Given the description of an element on the screen output the (x, y) to click on. 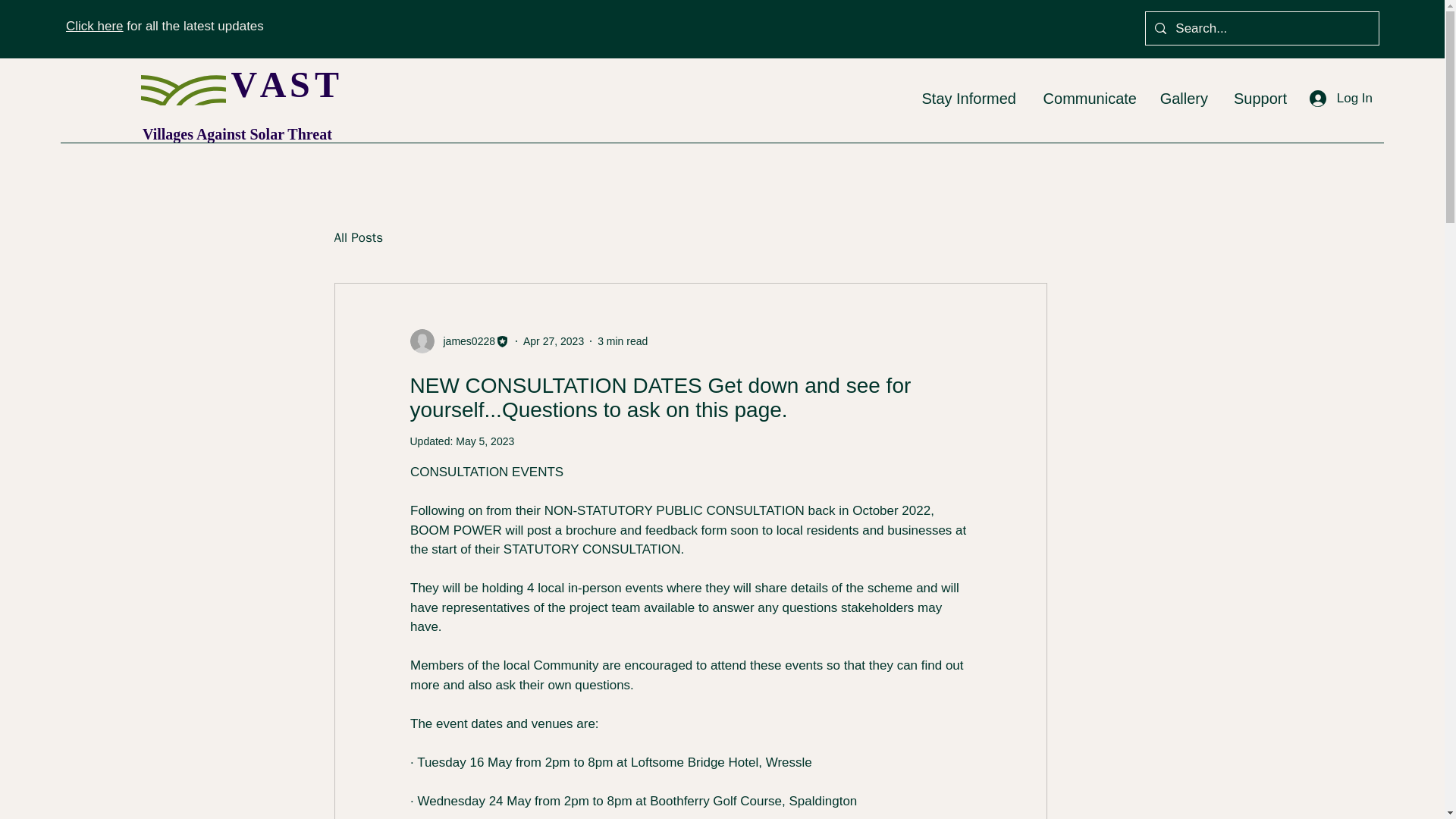
All Posts (357, 237)
james0228 (459, 340)
May 5, 2023 (484, 440)
Click here (94, 25)
Communicate (1087, 97)
Stay Informed (966, 97)
Support (1259, 97)
V A S T (283, 84)
james0228 (464, 341)
Log In (1340, 98)
Gallery (1184, 97)
Apr 27, 2023 (552, 340)
3 min read (621, 340)
